Given the description of an element on the screen output the (x, y) to click on. 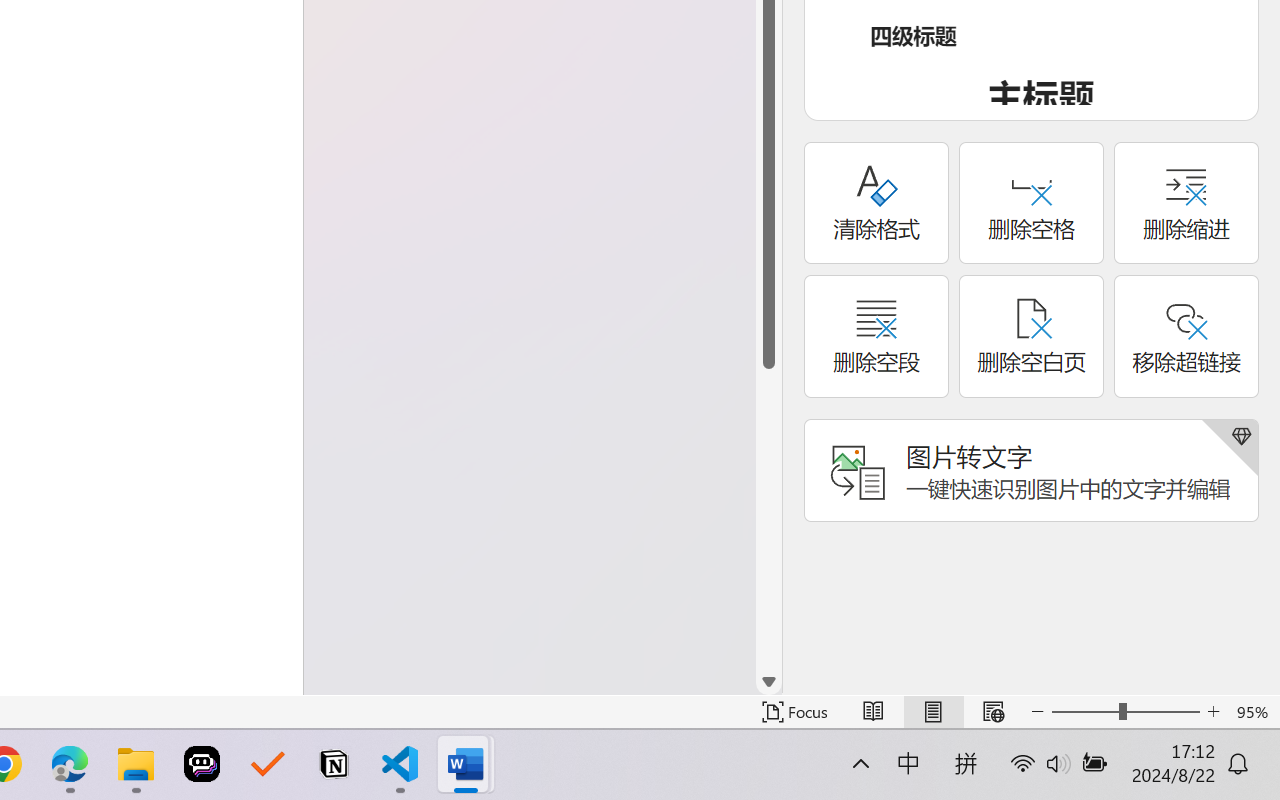
Page down (769, 518)
Line down (769, 681)
